Given the description of an element on the screen output the (x, y) to click on. 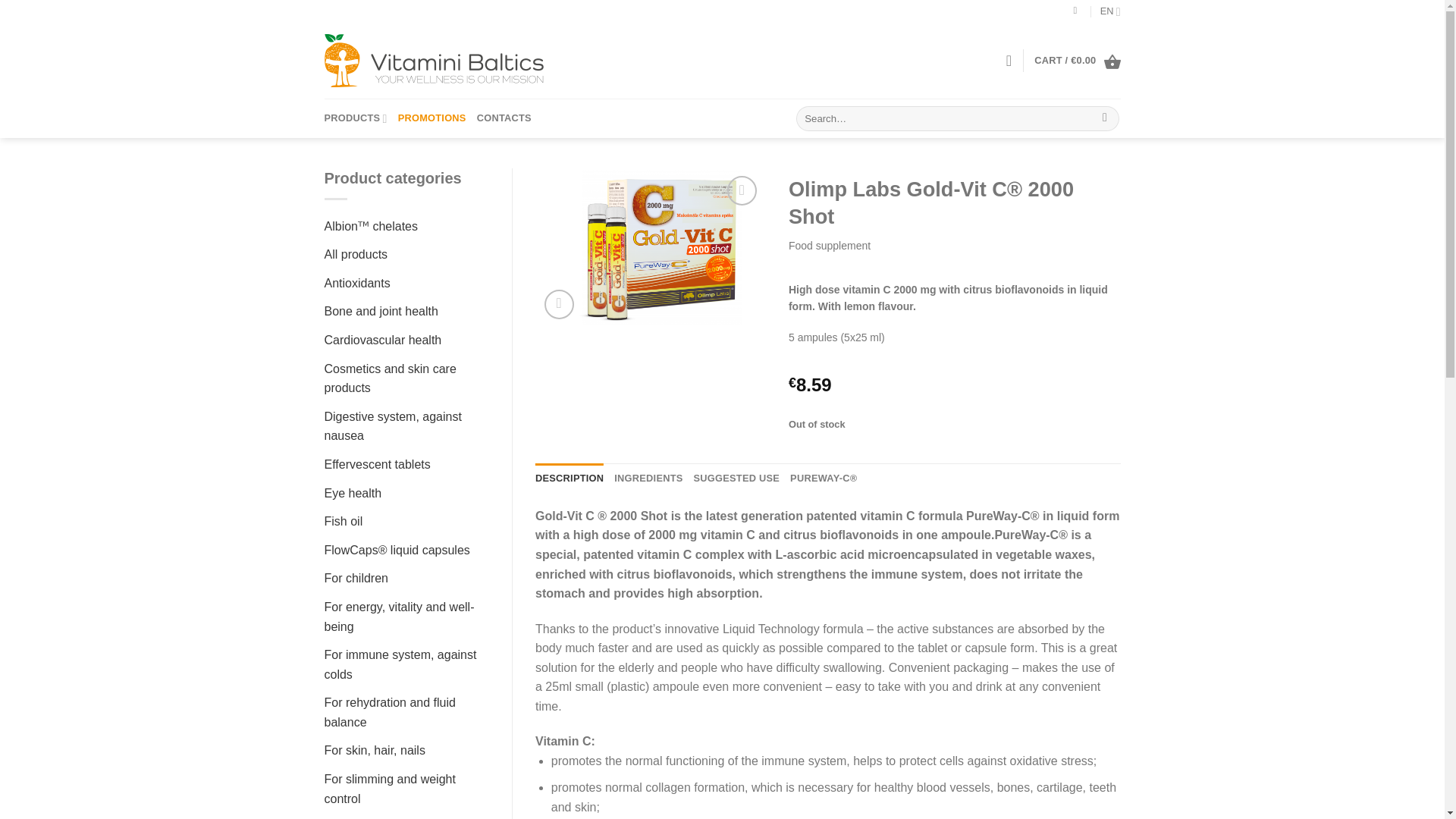
PRODUCTS (355, 118)
vitaminibaltics.com - Your wellness is our mission (437, 60)
EN (1110, 11)
Cart (1076, 60)
Zoom (558, 304)
